Given the description of an element on the screen output the (x, y) to click on. 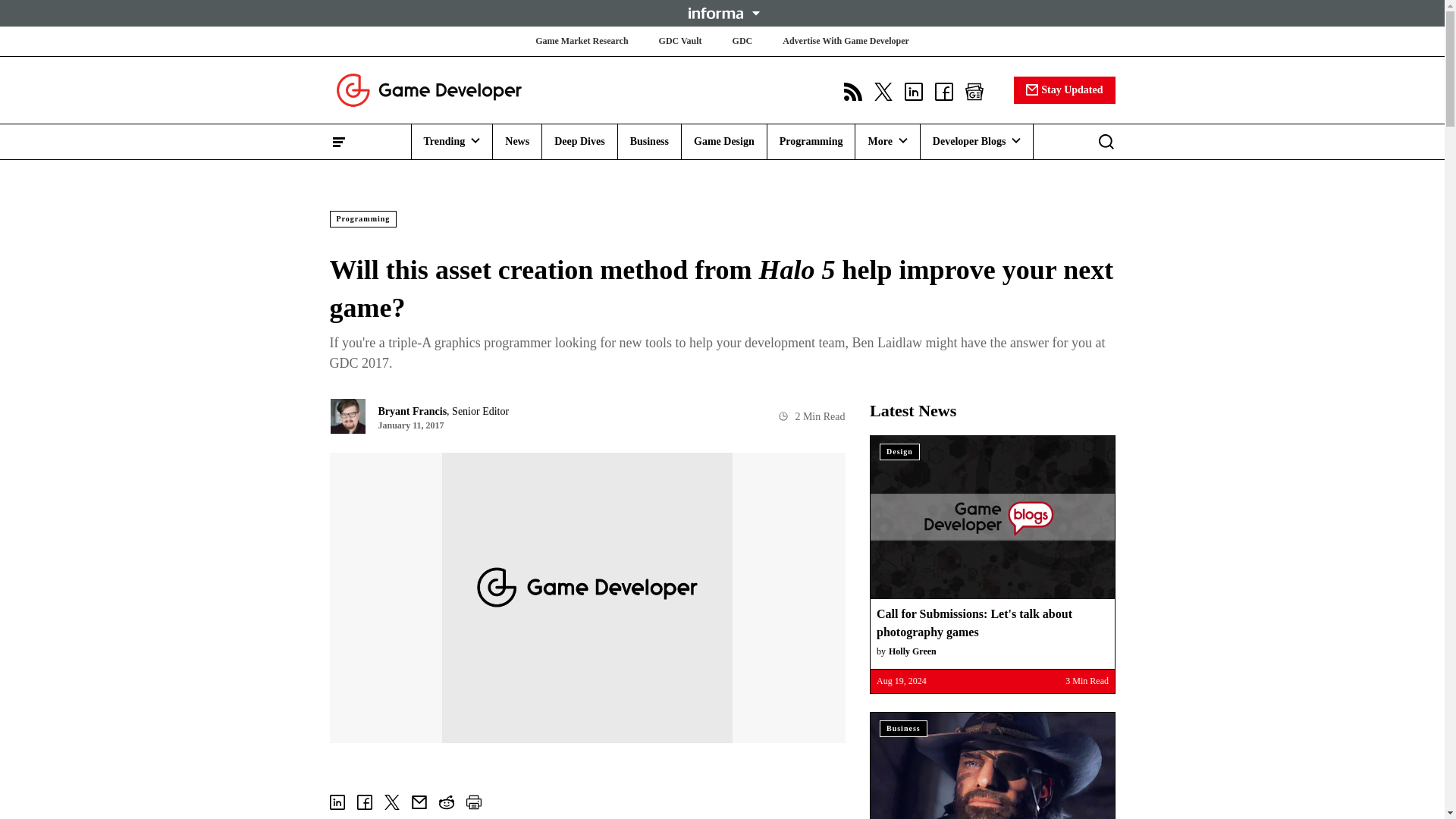
News (517, 141)
Stay Updated (1064, 89)
GDC Vault (680, 41)
GDC (742, 41)
Business (649, 141)
Advertise With Game Developer (845, 41)
Deep Dives (579, 141)
Picture of Bryant Francis (347, 416)
Programming (810, 141)
Game Market Research (581, 41)
